Given the description of an element on the screen output the (x, y) to click on. 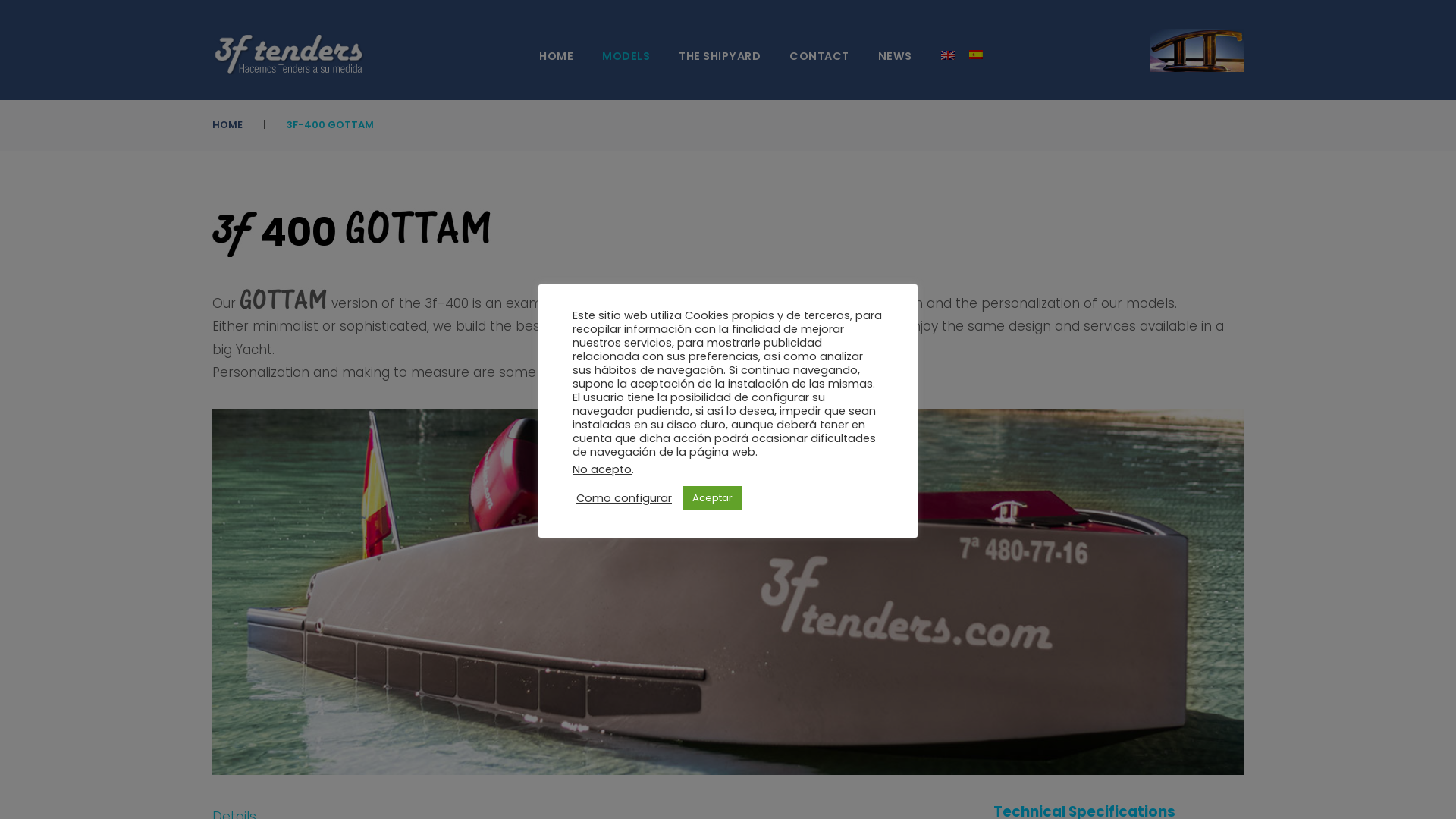
No acepto Element type: text (601, 468)
Aceptar Element type: text (712, 497)
HOME Element type: text (555, 57)
MODELS Element type: text (625, 57)
NEWS Element type: text (893, 57)
CONTACT Element type: text (819, 57)
Como configurar Element type: text (623, 498)
THE SHIPYARD Element type: text (719, 57)
HOME Element type: text (227, 124)
